Given the description of an element on the screen output the (x, y) to click on. 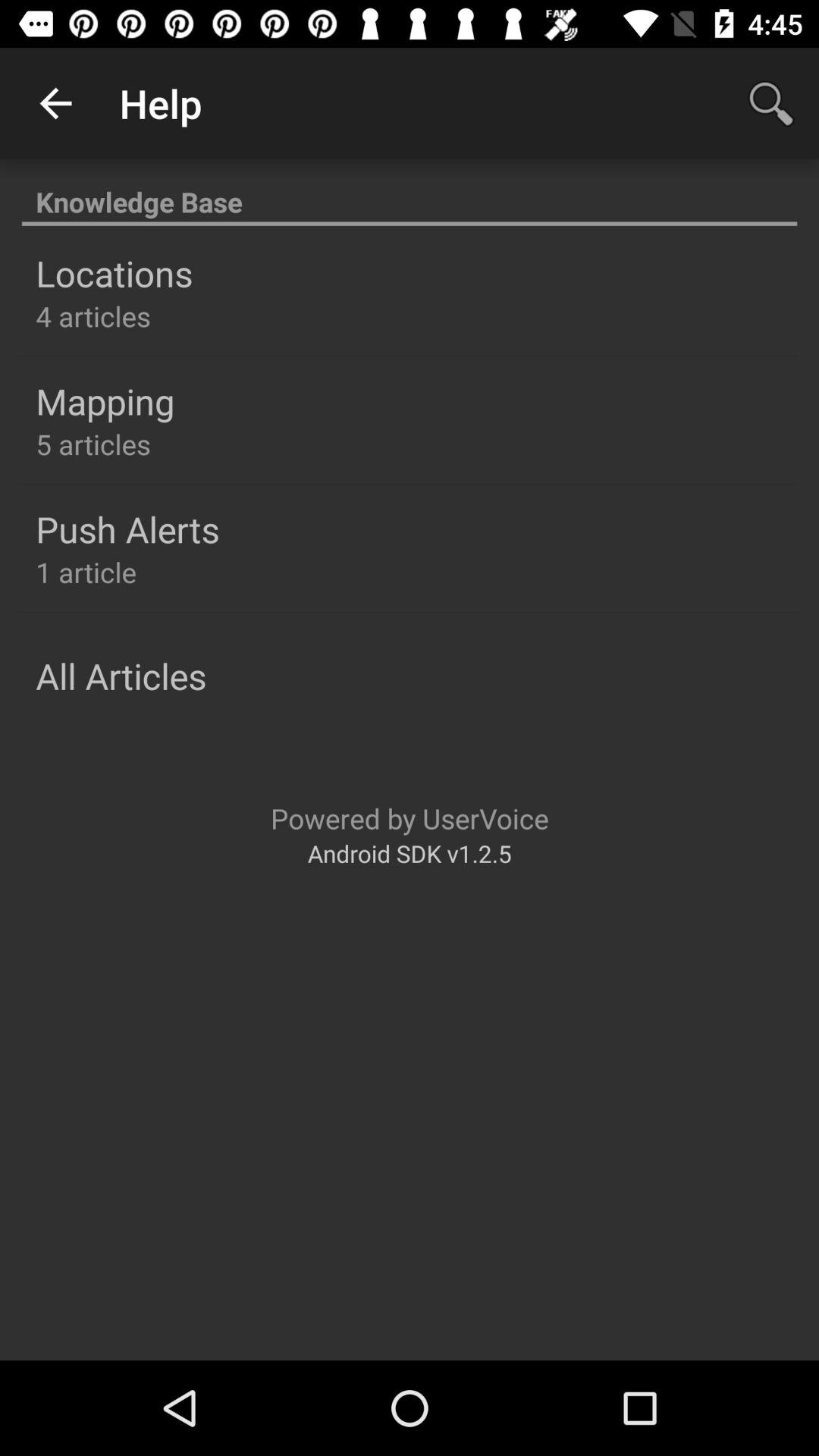
tap icon below knowledge base icon (113, 273)
